Given the description of an element on the screen output the (x, y) to click on. 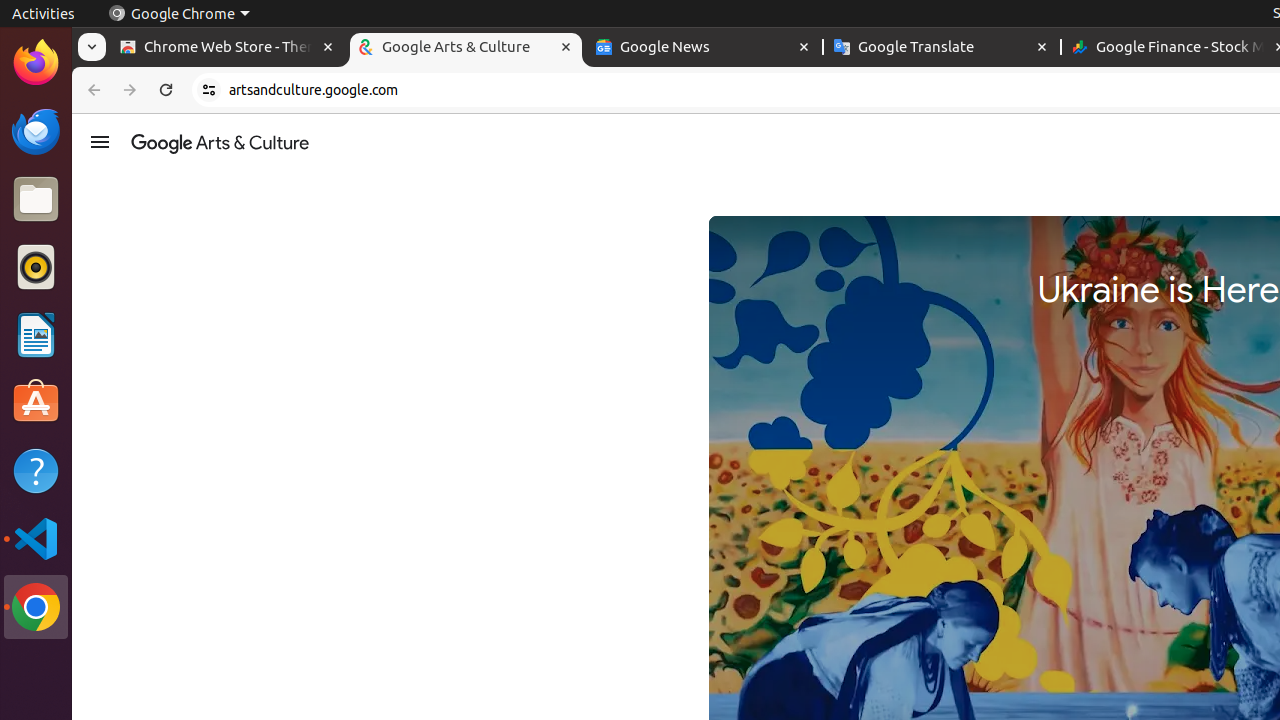
Help Element type: push-button (36, 470)
Rhythmbox Element type: push-button (36, 267)
Back Element type: push-button (91, 90)
Files Element type: push-button (36, 199)
